Given the description of an element on the screen output the (x, y) to click on. 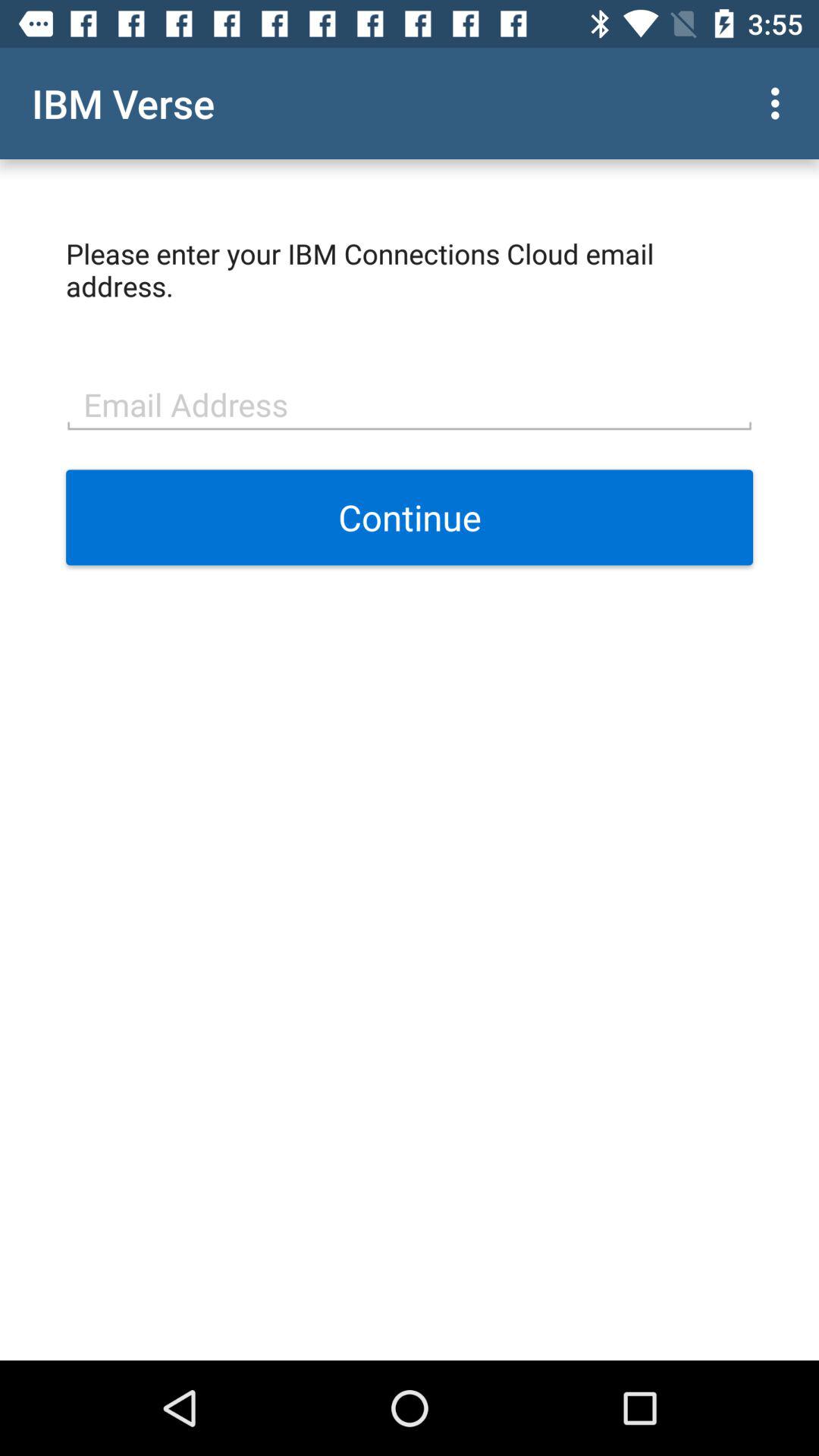
turn off item below please enter your item (409, 402)
